Given the description of an element on the screen output the (x, y) to click on. 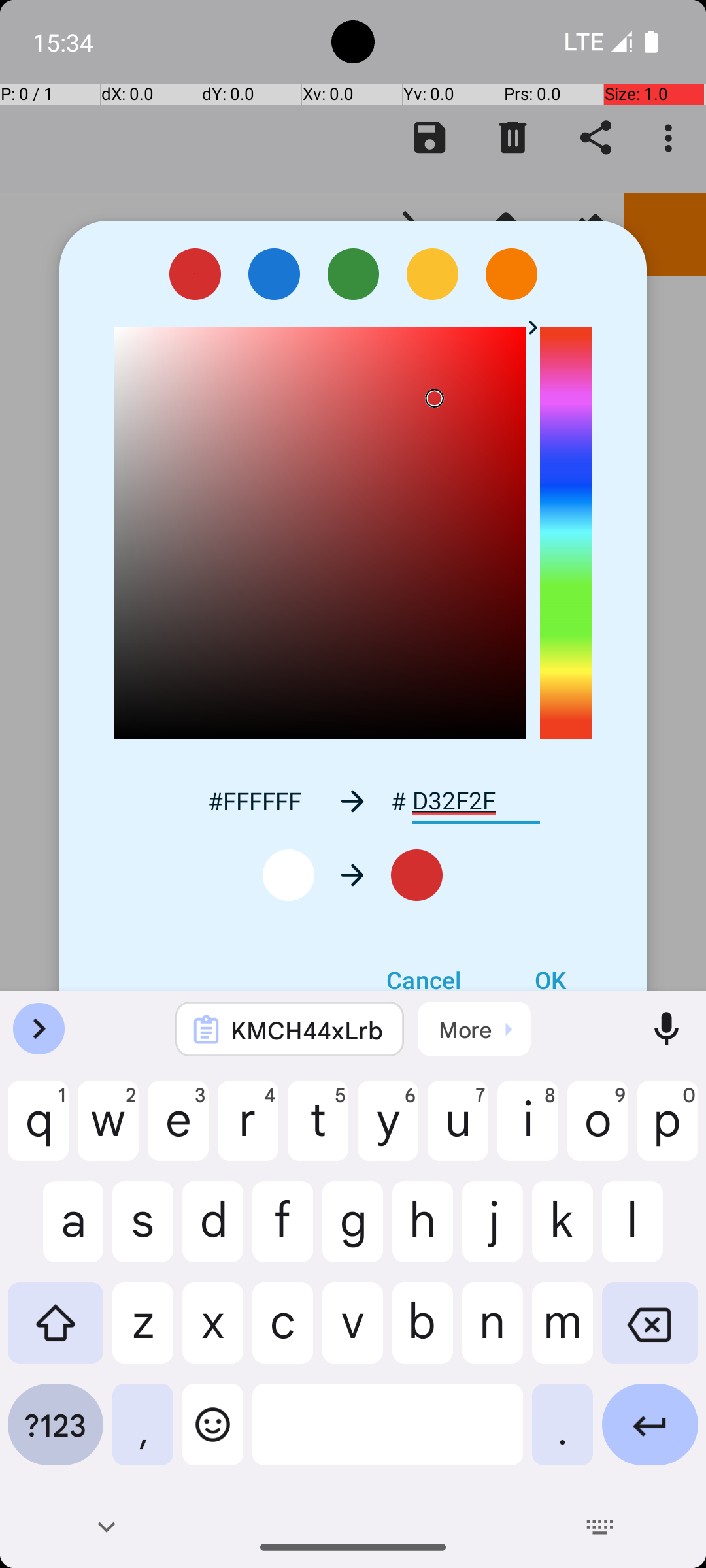
#FFFFFF Element type: android.widget.TextView (254, 800)
# Element type: android.widget.TextView (397, 800)
D32F2F Element type: android.widget.EditText (475, 800)
KMCH44xLrb Element type: android.widget.TextView (306, 1029)
